Given the description of an element on the screen output the (x, y) to click on. 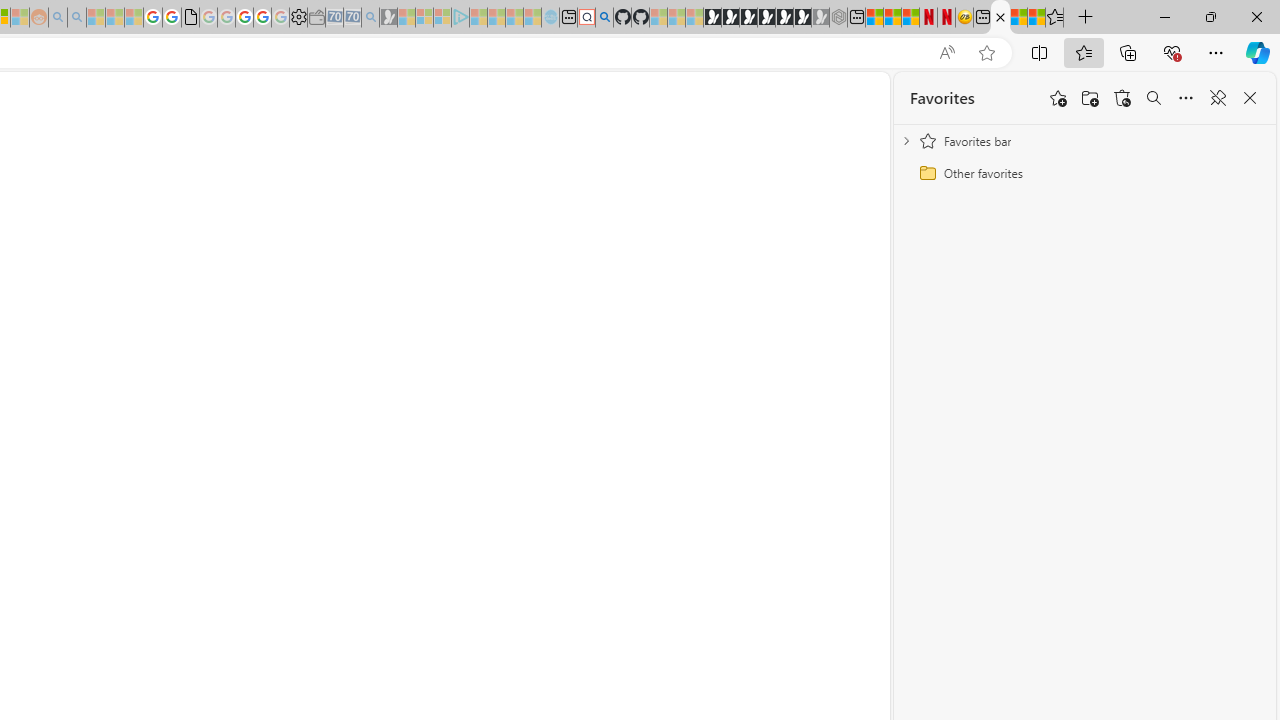
google_privacy_policy_zh-CN.pdf (189, 17)
